Given the description of an element on the screen output the (x, y) to click on. 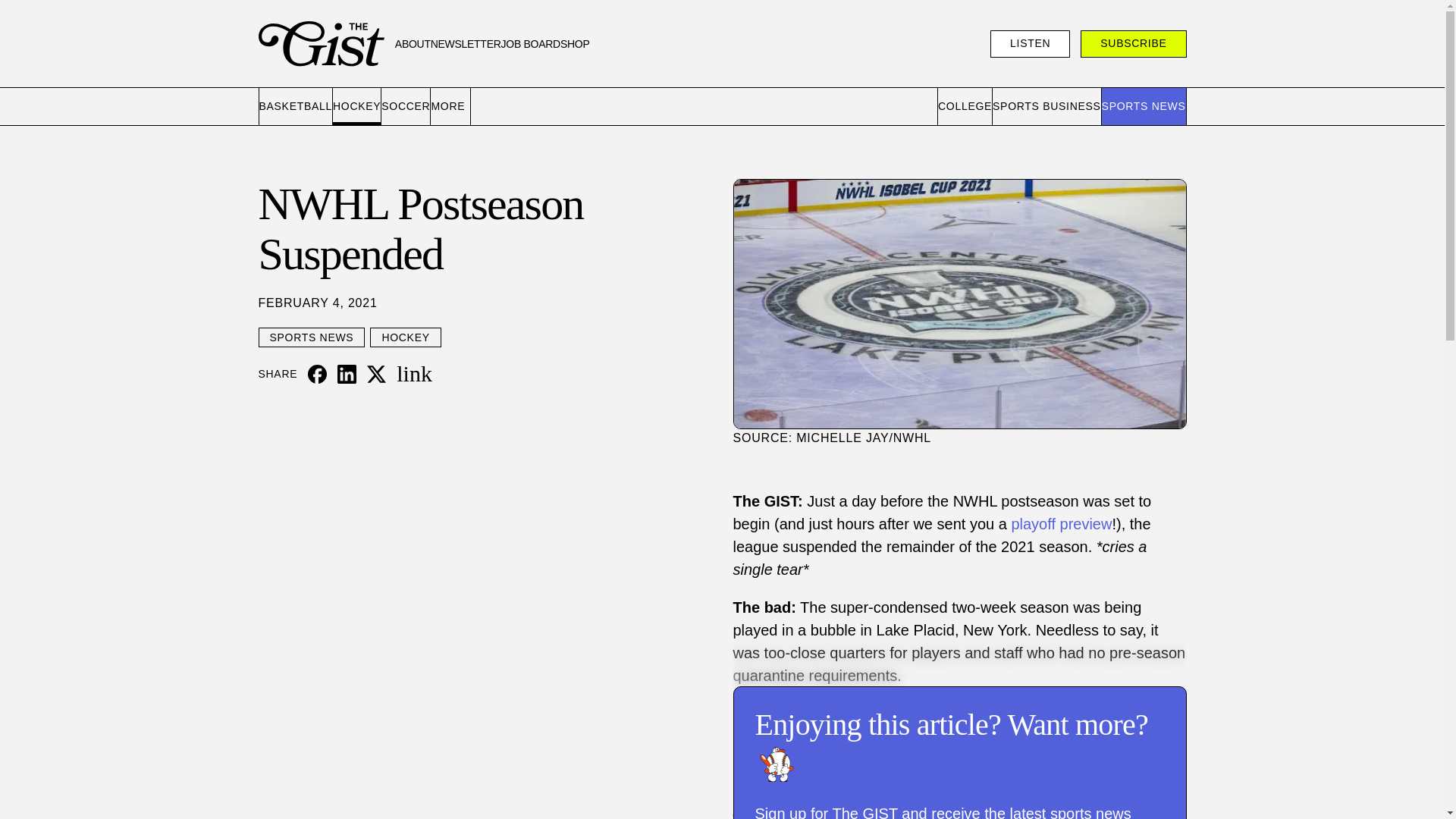
SUBSCRIBE (1133, 43)
JOB BOARD (530, 44)
NEWSLETTER (465, 44)
MORE (450, 106)
BASKETBALL (296, 106)
SOCCER (405, 106)
HOCKEY (357, 106)
LISTEN (1030, 43)
